Given the description of an element on the screen output the (x, y) to click on. 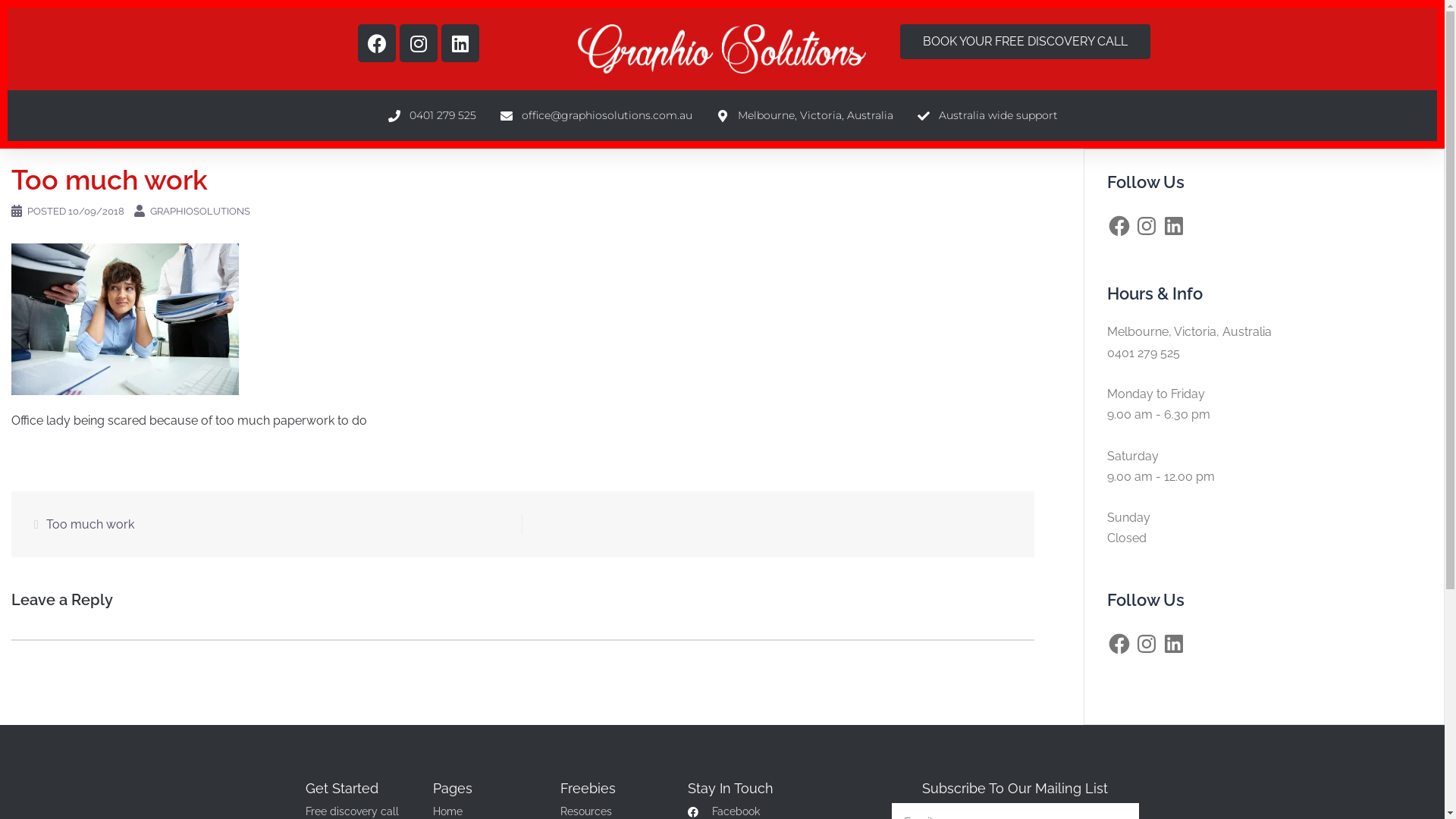
Comment Form Element type: hover (522, 639)
BOOK YOUR FREE DISCOVERY CALL Element type: text (1025, 41)
GRAPHIOSOLUTIONS Element type: text (200, 210)
Melbourne, Victoria, Australia Element type: text (1189, 331)
10/09/2018 Element type: text (96, 210)
office@graphiosolutions.com.au Element type: text (595, 115)
Too much work Element type: text (90, 524)
